Given the description of an element on the screen output the (x, y) to click on. 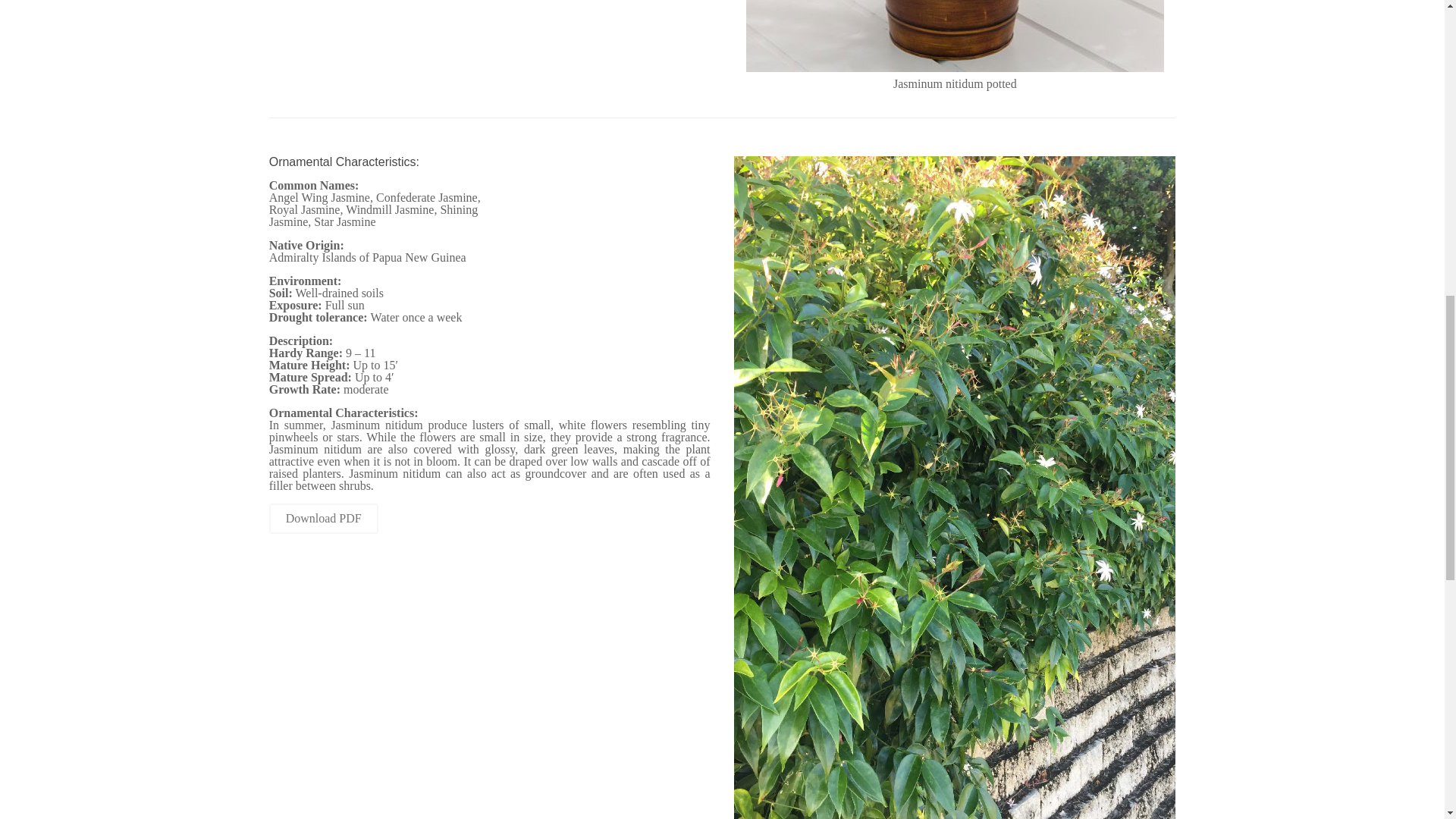
Download PDF (323, 518)
